Given the description of an element on the screen output the (x, y) to click on. 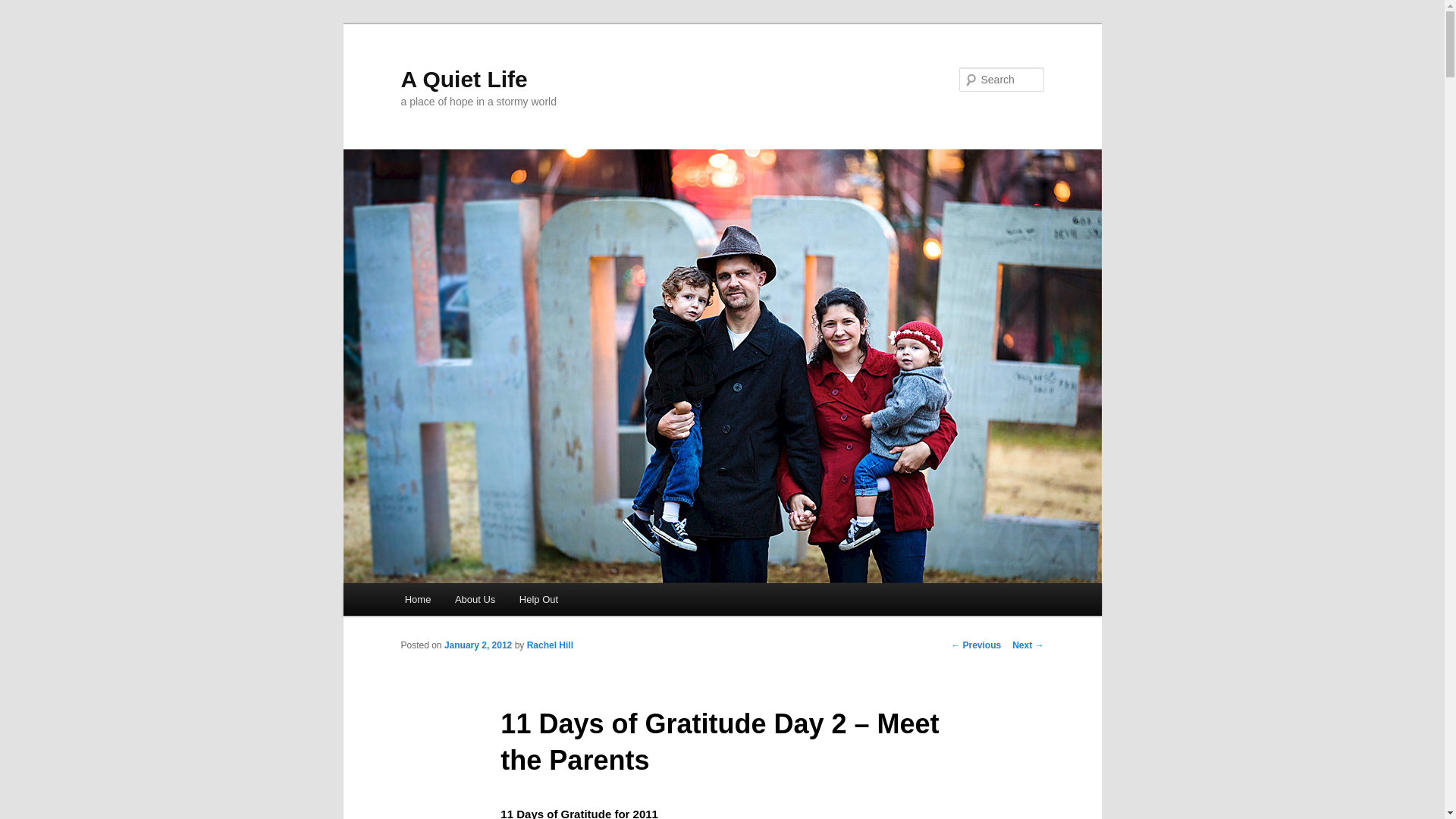
9:05 pm (478, 644)
Home (417, 599)
Help Out (538, 599)
Rachel Hill (550, 644)
View all posts by Rachel Hill (550, 644)
Search (24, 8)
A Quiet Life (463, 78)
About Us (474, 599)
January 2, 2012 (478, 644)
